Given the description of an element on the screen output the (x, y) to click on. 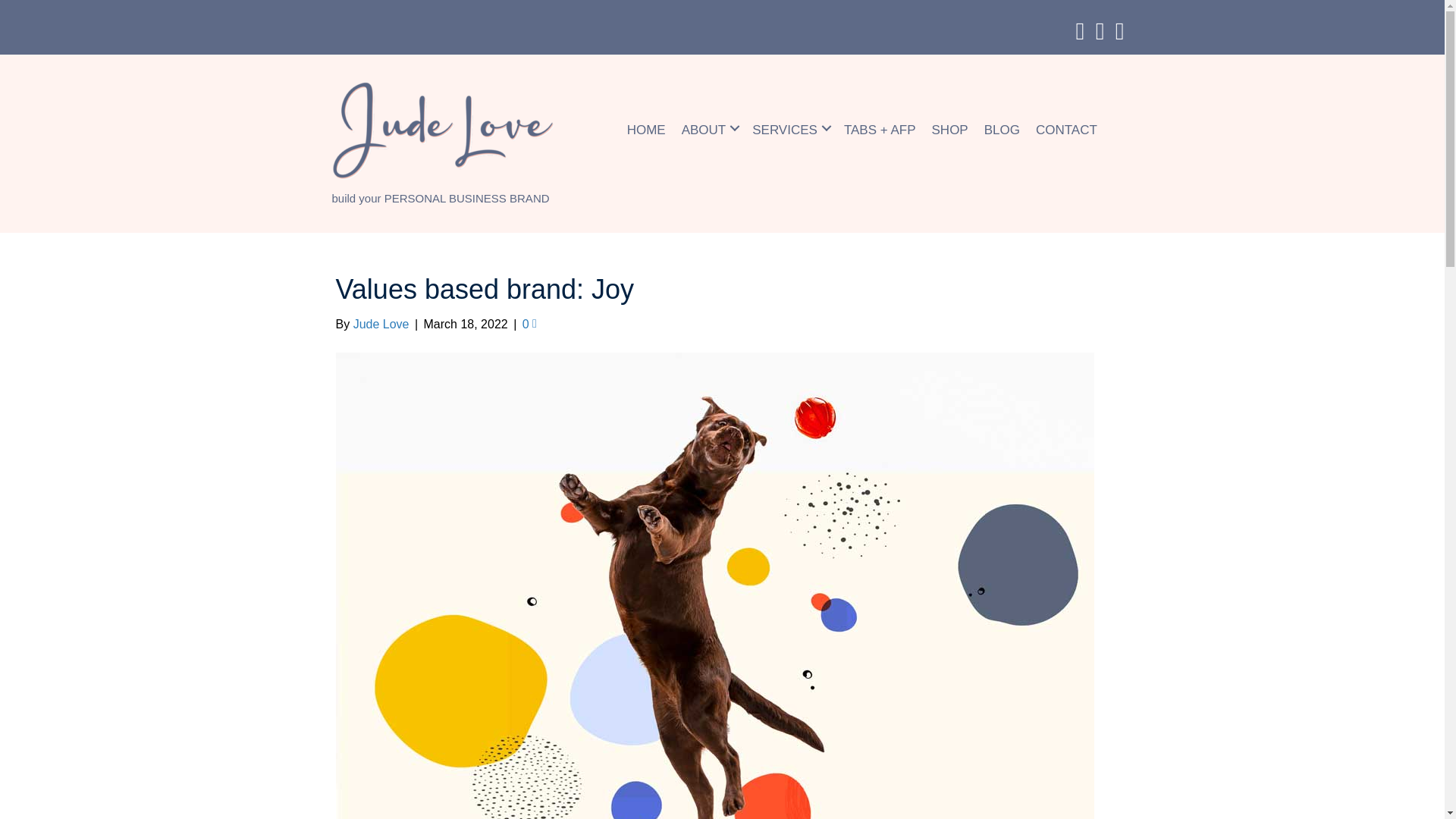
Jude-Love-website-builder-personal-brand-specialist (445, 131)
CONTACT (1066, 128)
0 (529, 323)
SHOP (949, 128)
Jude Love (381, 323)
HOME (646, 128)
SERVICES (789, 128)
BLOG (1001, 128)
ABOUT (709, 128)
